Given the description of an element on the screen output the (x, y) to click on. 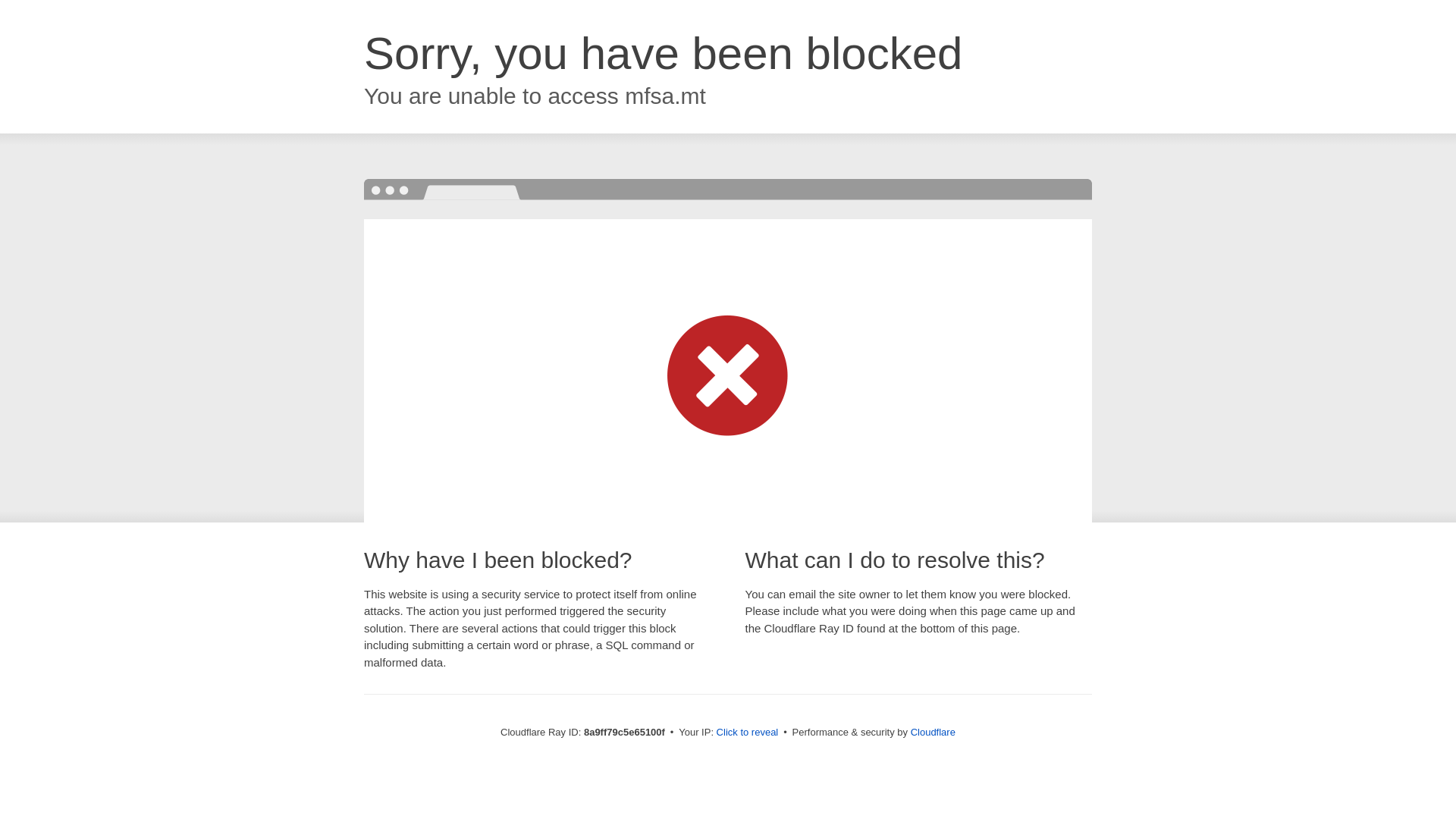
Cloudflare (933, 731)
Click to reveal (747, 732)
